Given the description of an element on the screen output the (x, y) to click on. 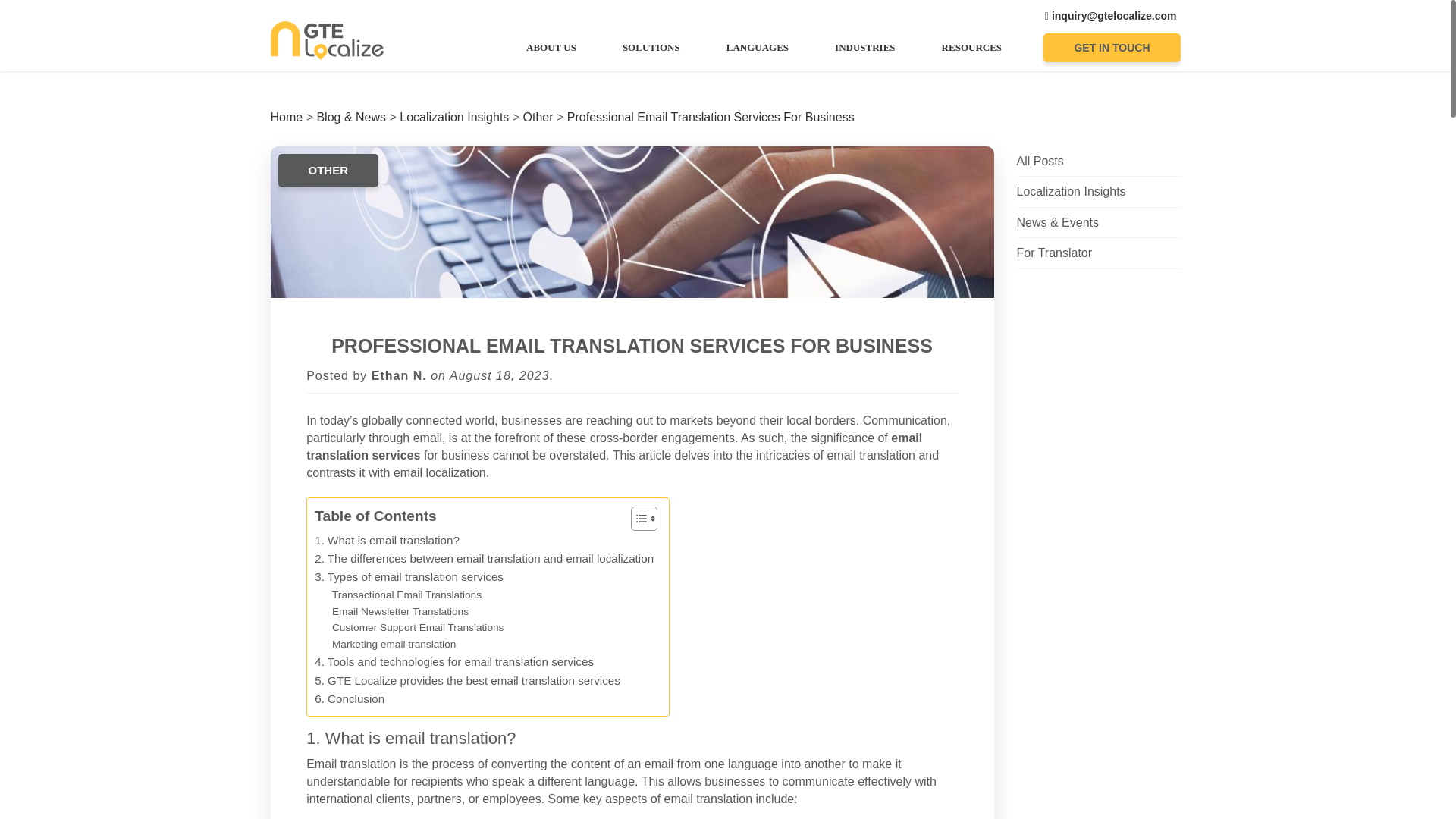
1. What is email translation? (387, 540)
Marketing email translation (393, 644)
4. Tools and technologies for email translation services (454, 661)
ABOUT US (550, 47)
Go to the Localization Insights category archives. (453, 116)
Transactional Email Translations (406, 595)
3. Types of email translation services (408, 577)
GTE Localize (325, 39)
5. GTE Localize provides the best email translation services (467, 680)
Email Newsletter Translations (399, 611)
SOLUTIONS (651, 47)
Go to the Other category archives. (537, 116)
Customer Support Email Translations (417, 627)
6. Conclusion (349, 699)
